Given the description of an element on the screen output the (x, y) to click on. 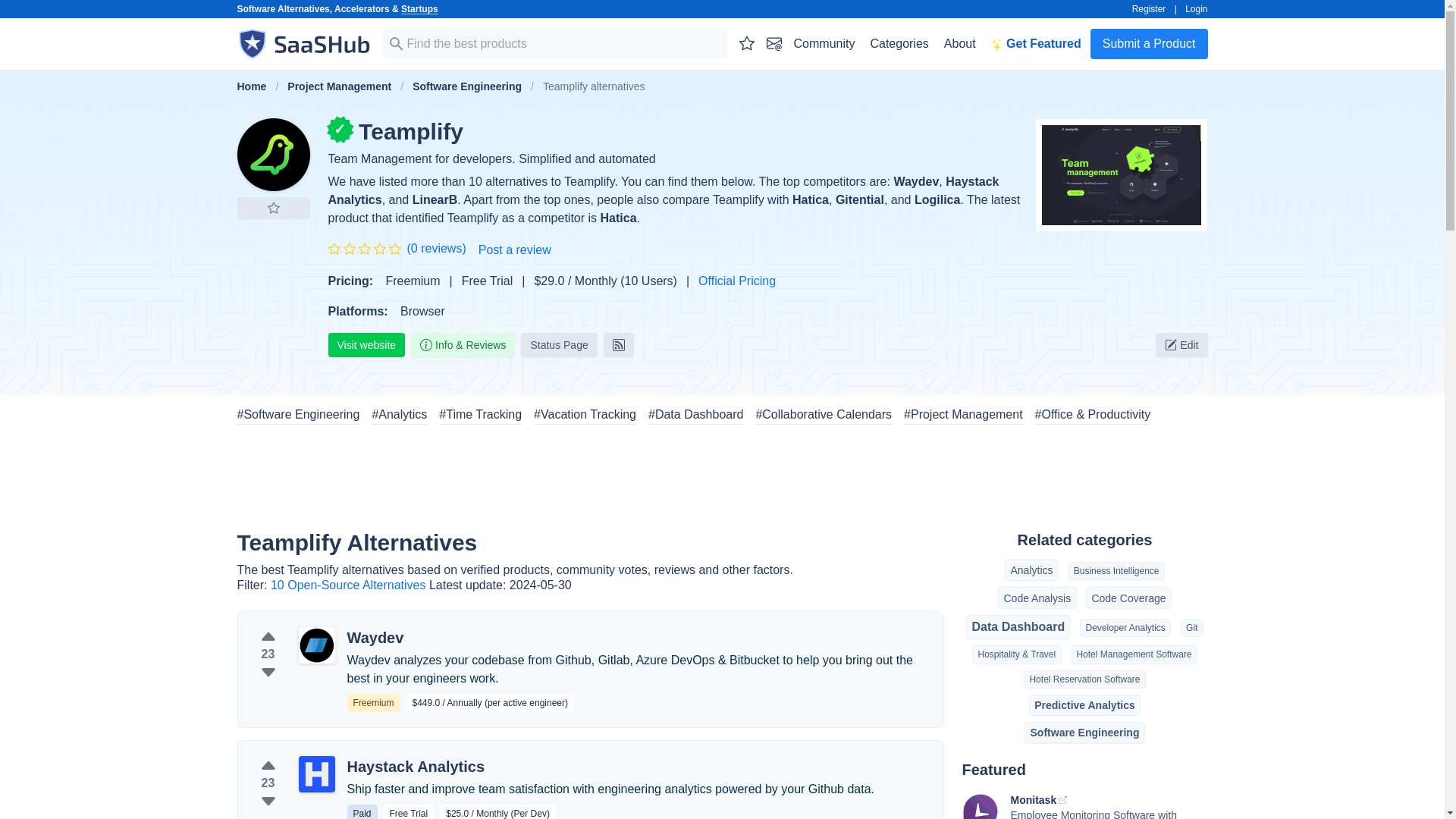
Startups (419, 9)
Submit a Product (1149, 43)
Waydev (916, 181)
Haystack Analytics (662, 190)
Hatica (810, 199)
Official Blog (618, 344)
Teamplify alternatives (271, 153)
All Teamplify reviews (435, 248)
Edit (1181, 344)
Get Featured (1036, 43)
